Given the description of an element on the screen output the (x, y) to click on. 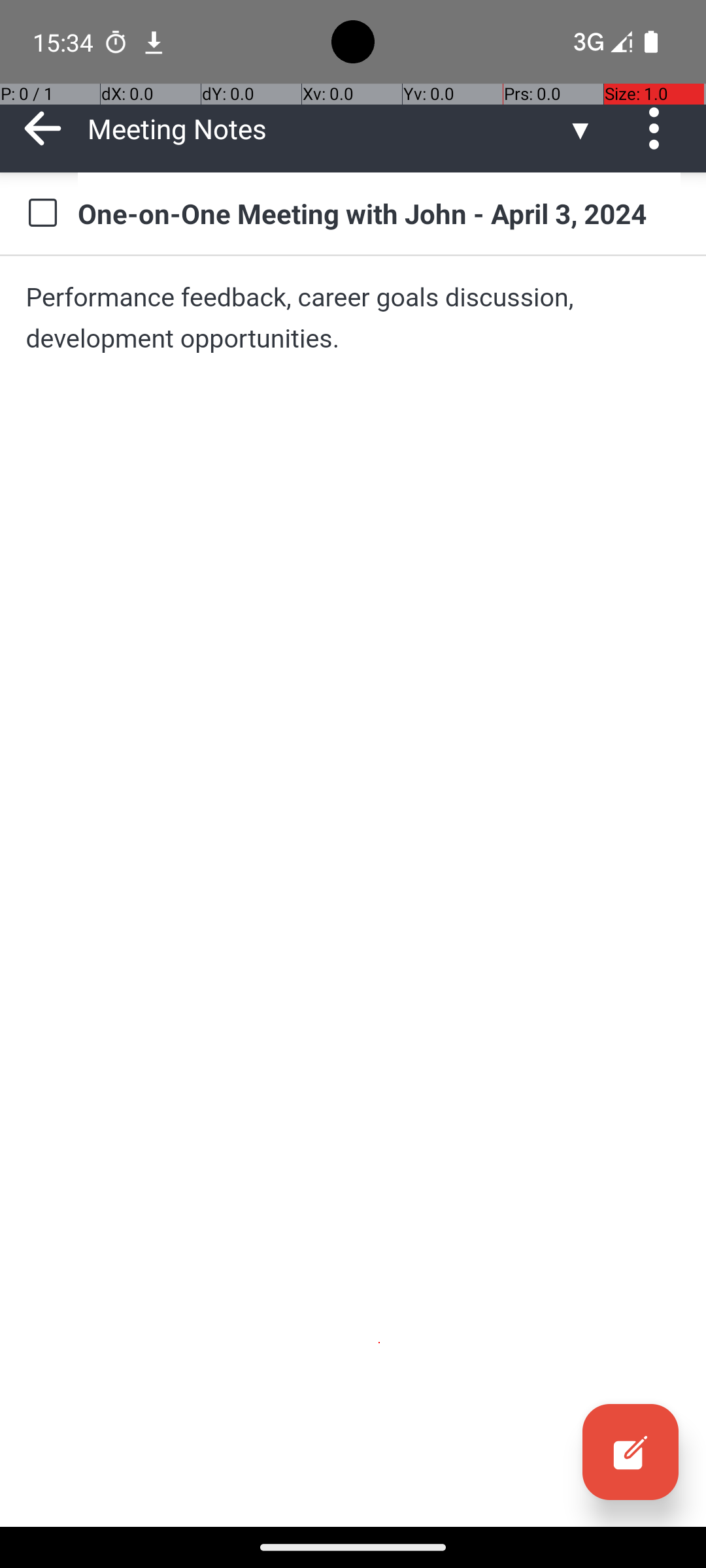
Performance feedback, career goals discussion, development opportunities. Element type: android.widget.TextView (352, 317)
